Given the description of an element on the screen output the (x, y) to click on. 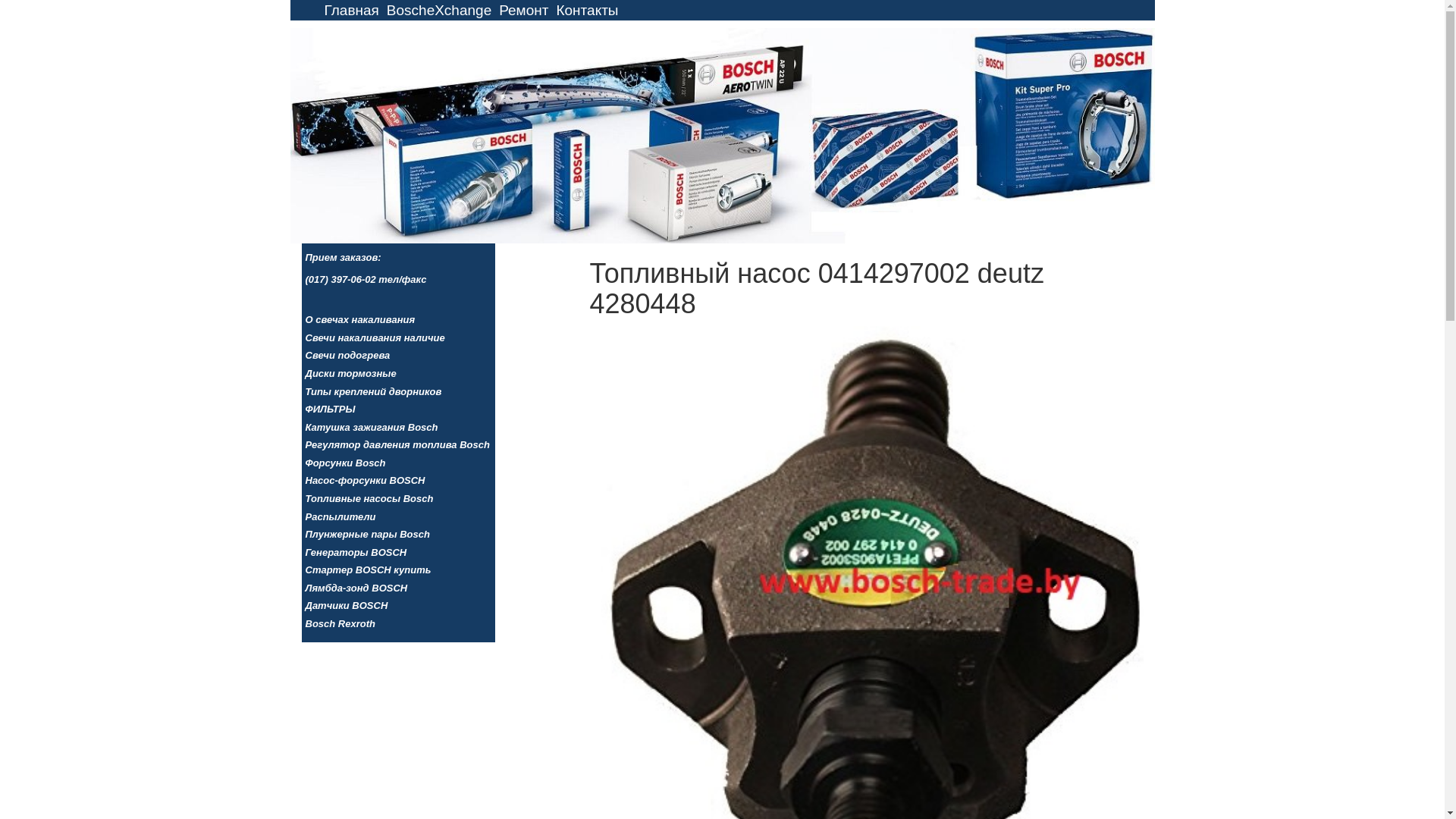
Bosch Rexroth Element type: text (397, 624)
BoscheXchange Element type: text (438, 10)
